Given the description of an element on the screen output the (x, y) to click on. 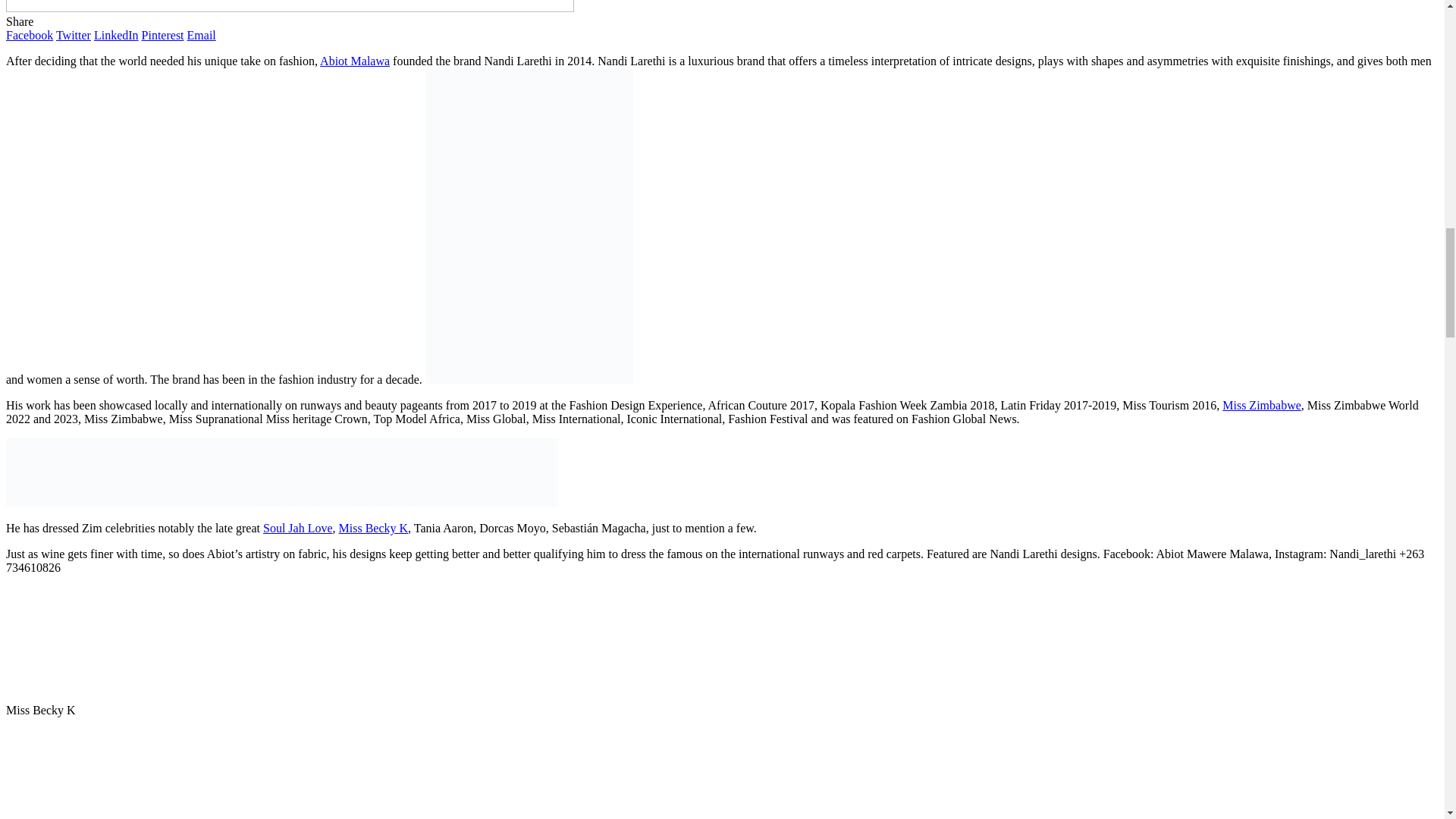
Pinterest (162, 34)
LinkedIn (116, 34)
Email (201, 34)
Facebook (28, 34)
Twitter (73, 34)
